Given the description of an element on the screen output the (x, y) to click on. 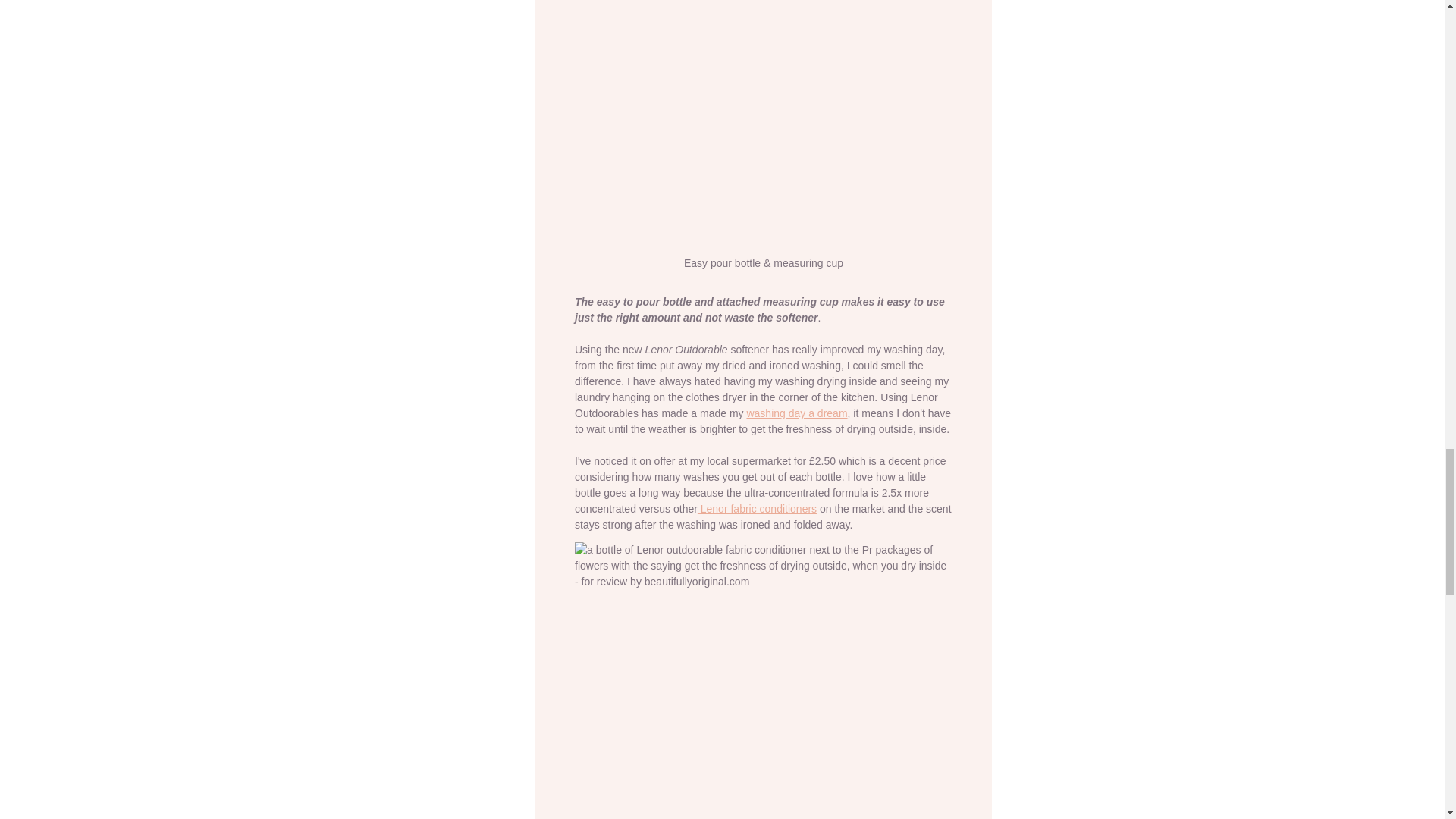
washing day a dream (796, 413)
Lenor Outdoorables for review by beautifullyoriginal.com (763, 680)
 Lenor fabric conditioners (756, 508)
